Given the description of an element on the screen output the (x, y) to click on. 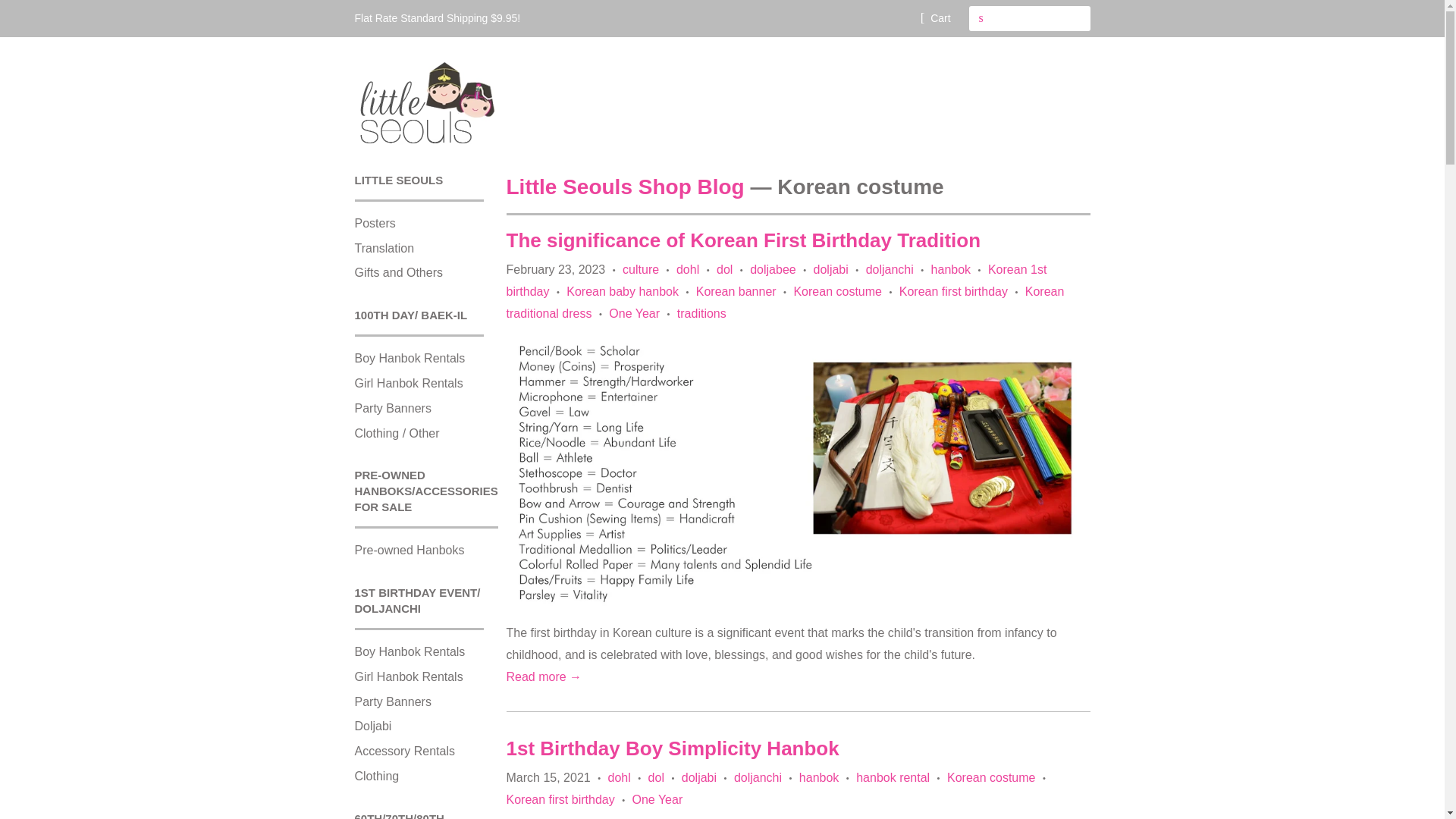
Search (980, 18)
Pre-owned Hanboks (409, 549)
Translation (384, 247)
Girl Hanbok Rentals (409, 676)
Girl Hanbok Rentals (409, 382)
Gifts and Others (399, 272)
Doljabi (373, 725)
Cart (935, 17)
Posters (375, 223)
Party Banners (392, 408)
